Given the description of an element on the screen output the (x, y) to click on. 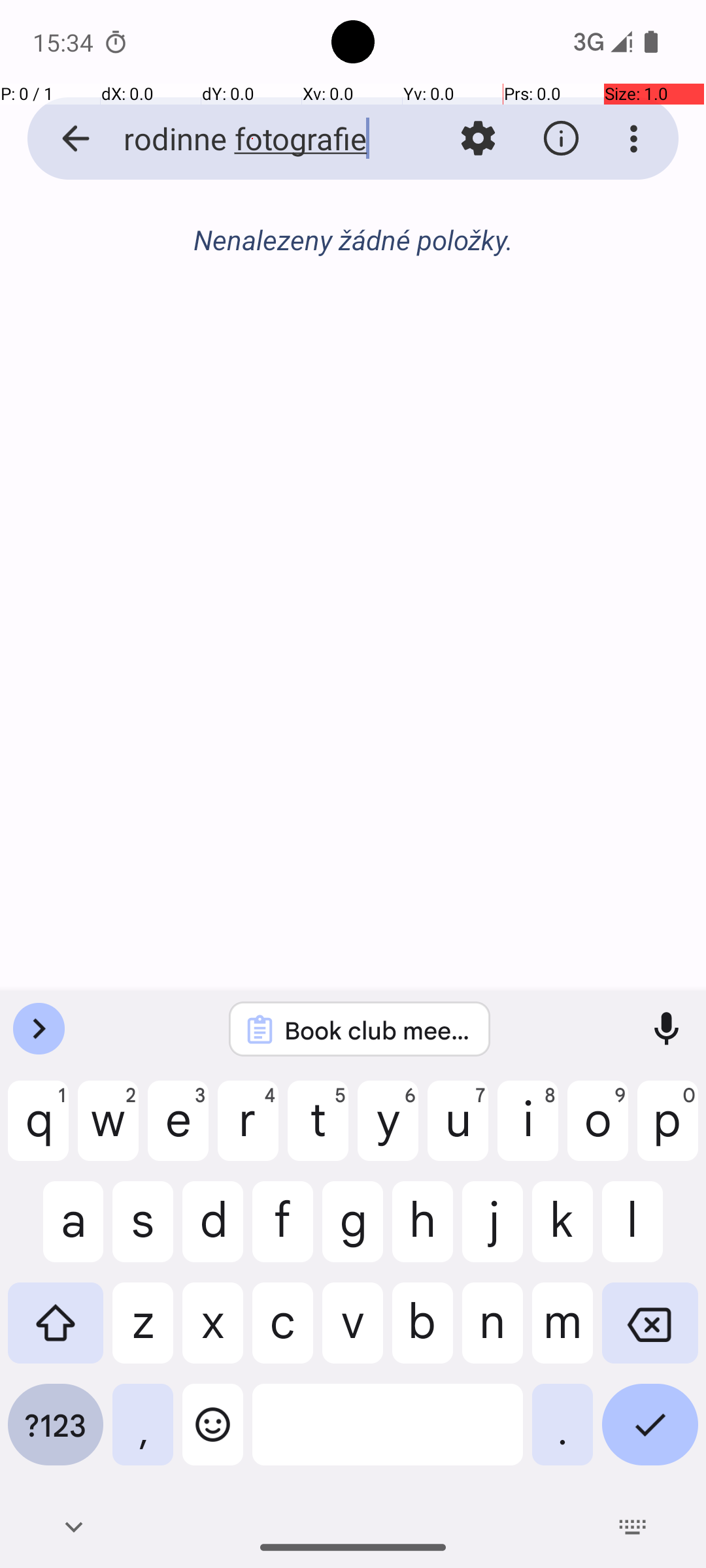
Nenalezeny žádné položky. Element type: android.widget.TextView (353, 239)
rodinne fotografie Element type: android.widget.EditText (252, 138)
Nebyly nalezeny žádné uložené konverzace Element type: android.widget.TextView (353, 246)
Zahajte konverzaci Element type: android.widget.TextView (352, 311)
